Given the description of an element on the screen output the (x, y) to click on. 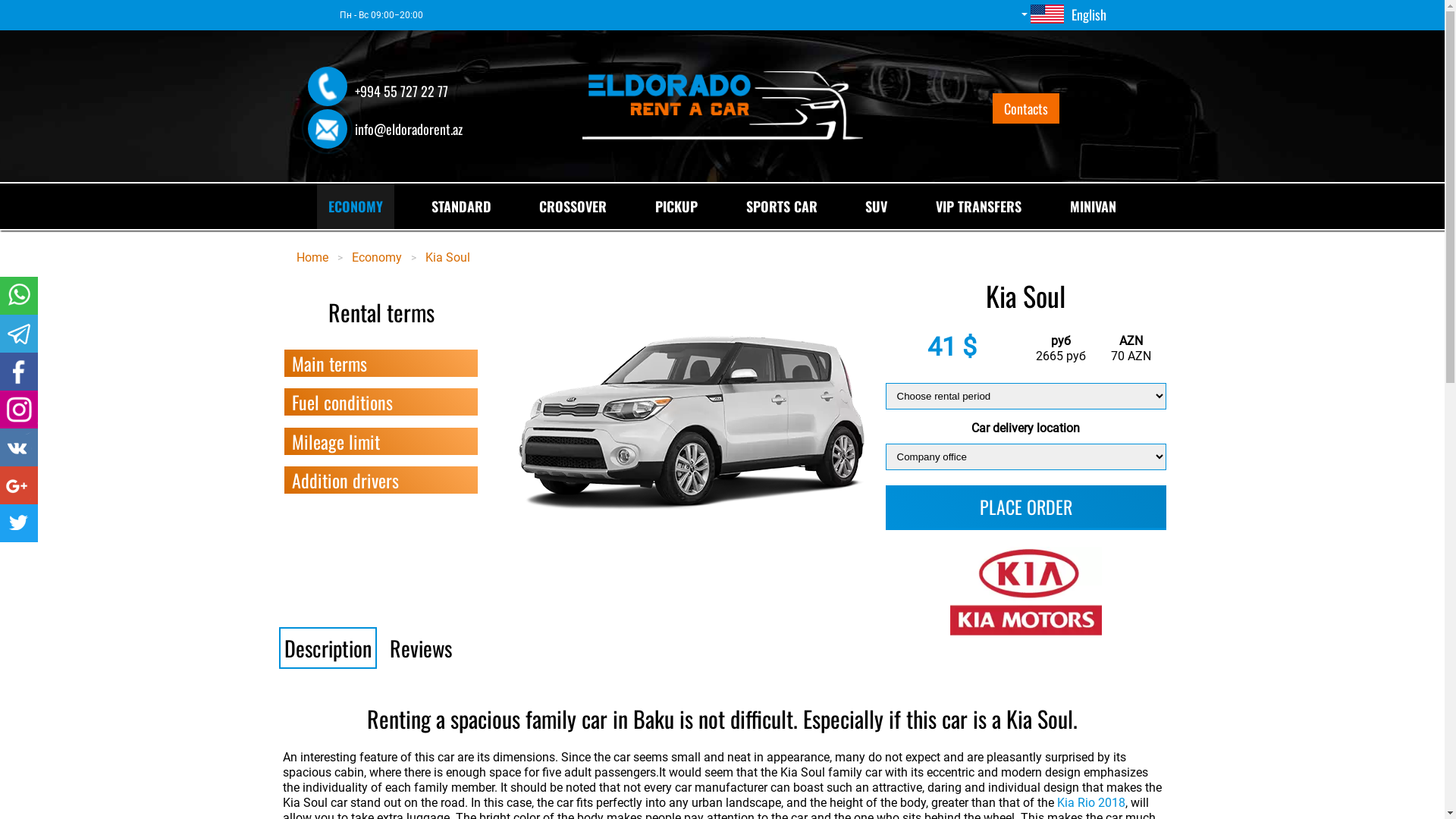
Kia Rio 2018 Element type: text (1091, 802)
VIP TRANSFERS Element type: text (978, 206)
Home Element type: text (311, 257)
PLACE ORDER Element type: text (1025, 506)
Description Element type: text (327, 647)
 English Element type: text (1062, 15)
SPORTS CAR Element type: text (781, 206)
CROSSOVER Element type: text (572, 206)
ELDORADO Rent a Car in Baku - Car Hire in Baku Azerbaijan Element type: hover (722, 106)
Kia Soul Element type: text (446, 257)
Economy Element type: text (376, 257)
PICKUP Element type: text (676, 206)
STANDARD Element type: text (461, 206)
MINIVAN Element type: text (1092, 206)
ECONOMY Element type: text (355, 206)
Reviews Element type: text (419, 647)
+994 55 727 22 77 Element type: text (418, 87)
info@eldoradorent.az Element type: text (418, 125)
Contacts Element type: text (1024, 107)
SUV Element type: text (875, 206)
